Given the description of an element on the screen output the (x, y) to click on. 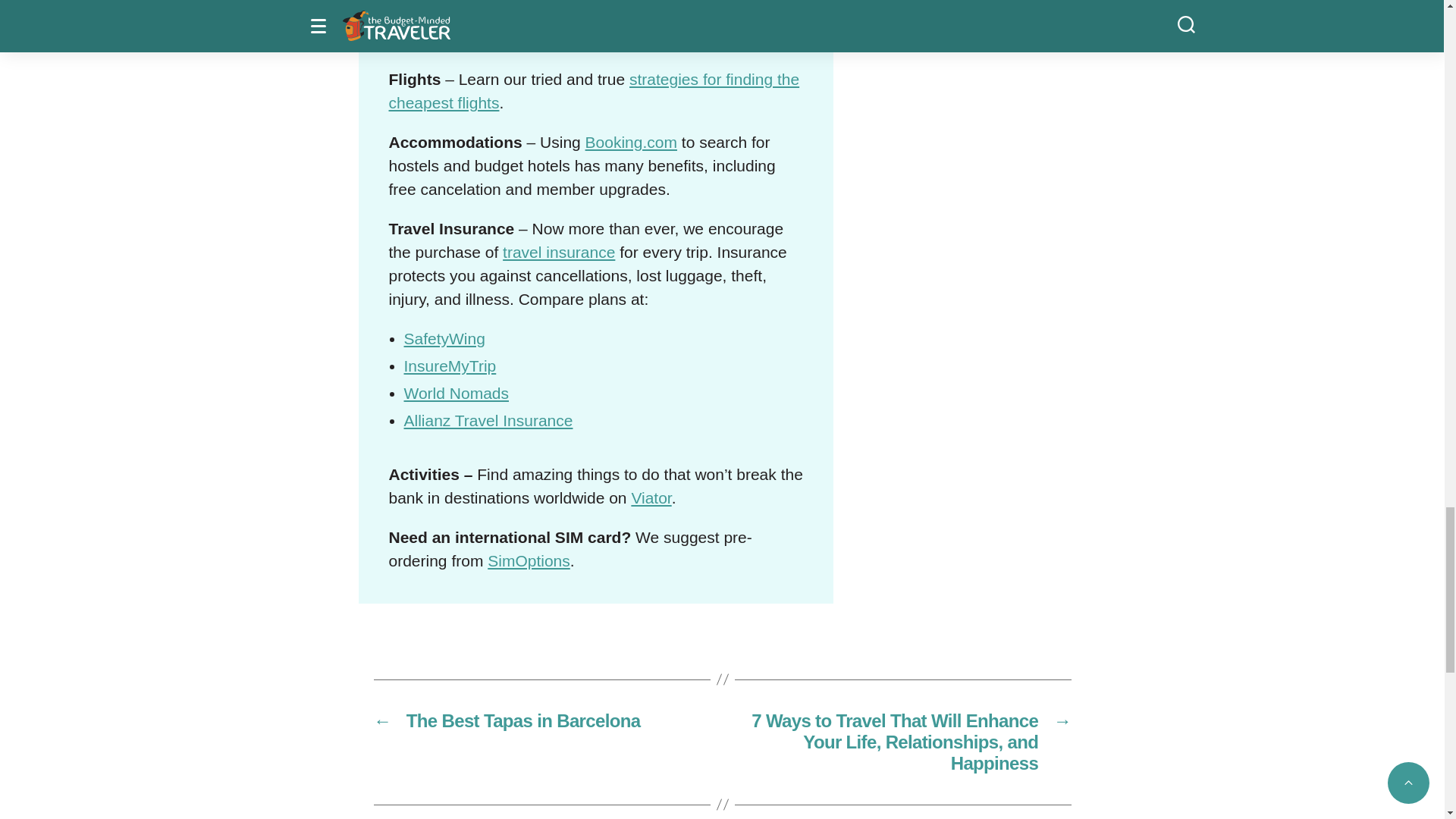
World Nomads (455, 393)
Booking.com (631, 141)
SafetyWing (443, 338)
SimOptions (528, 560)
InsureMyTrip (449, 365)
Viator (650, 497)
strategies for finding the cheapest flights (593, 90)
travel insurance (558, 252)
Allianz Travel Insurance (487, 420)
